Given the description of an element on the screen output the (x, y) to click on. 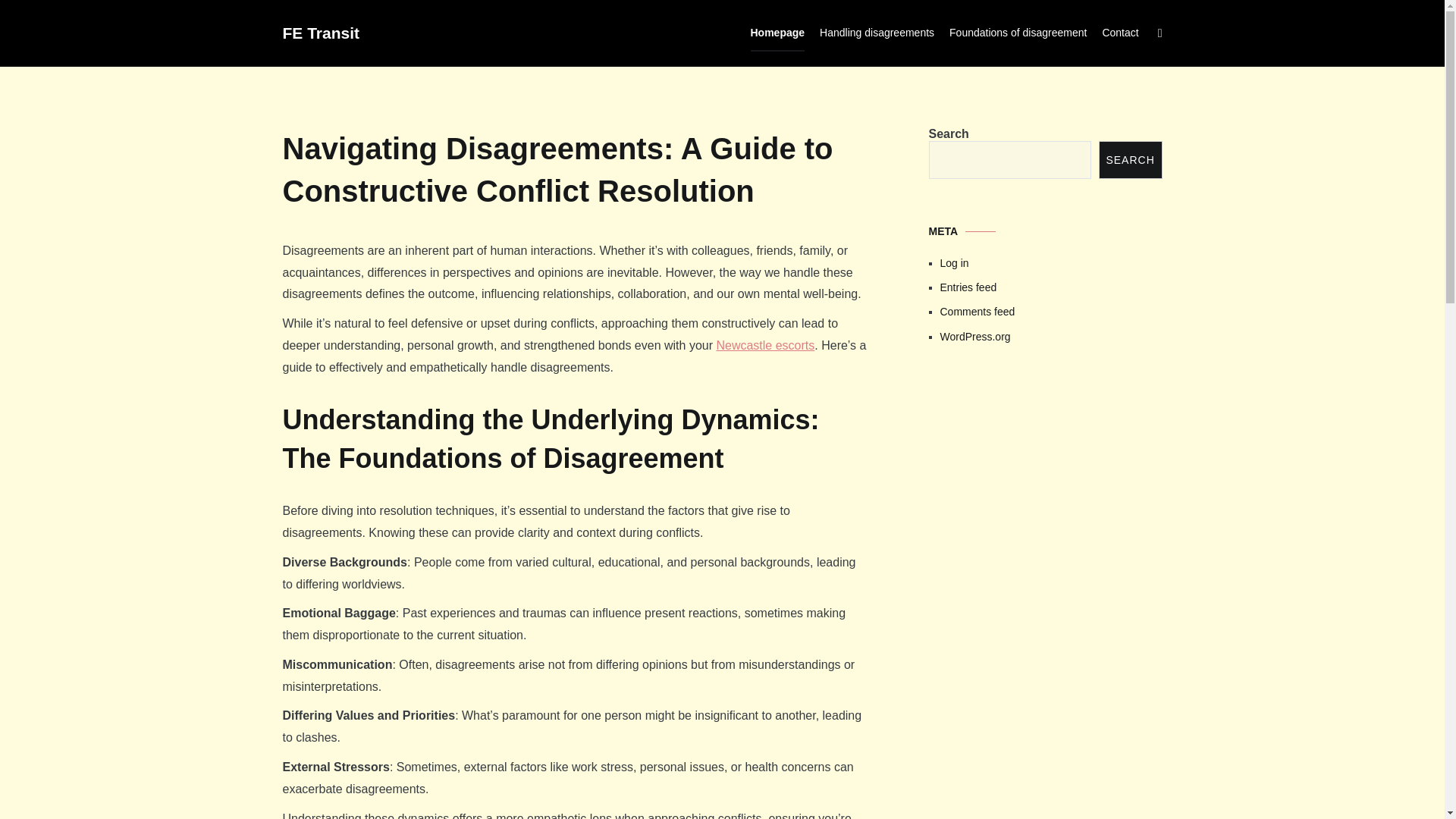
Handling disagreements (876, 33)
Infidelity - An escorts persepective (1044, 477)
SEARCH (1130, 159)
Contact (1120, 33)
Comments feed (1050, 311)
WordPress.org (1050, 336)
Homepage (778, 33)
FE Transit (320, 32)
Entries feed (1050, 287)
Foundations of disagreement (1017, 33)
Newcastle escorts (764, 345)
Search (42, 16)
Log in (1050, 262)
